Given the description of an element on the screen output the (x, y) to click on. 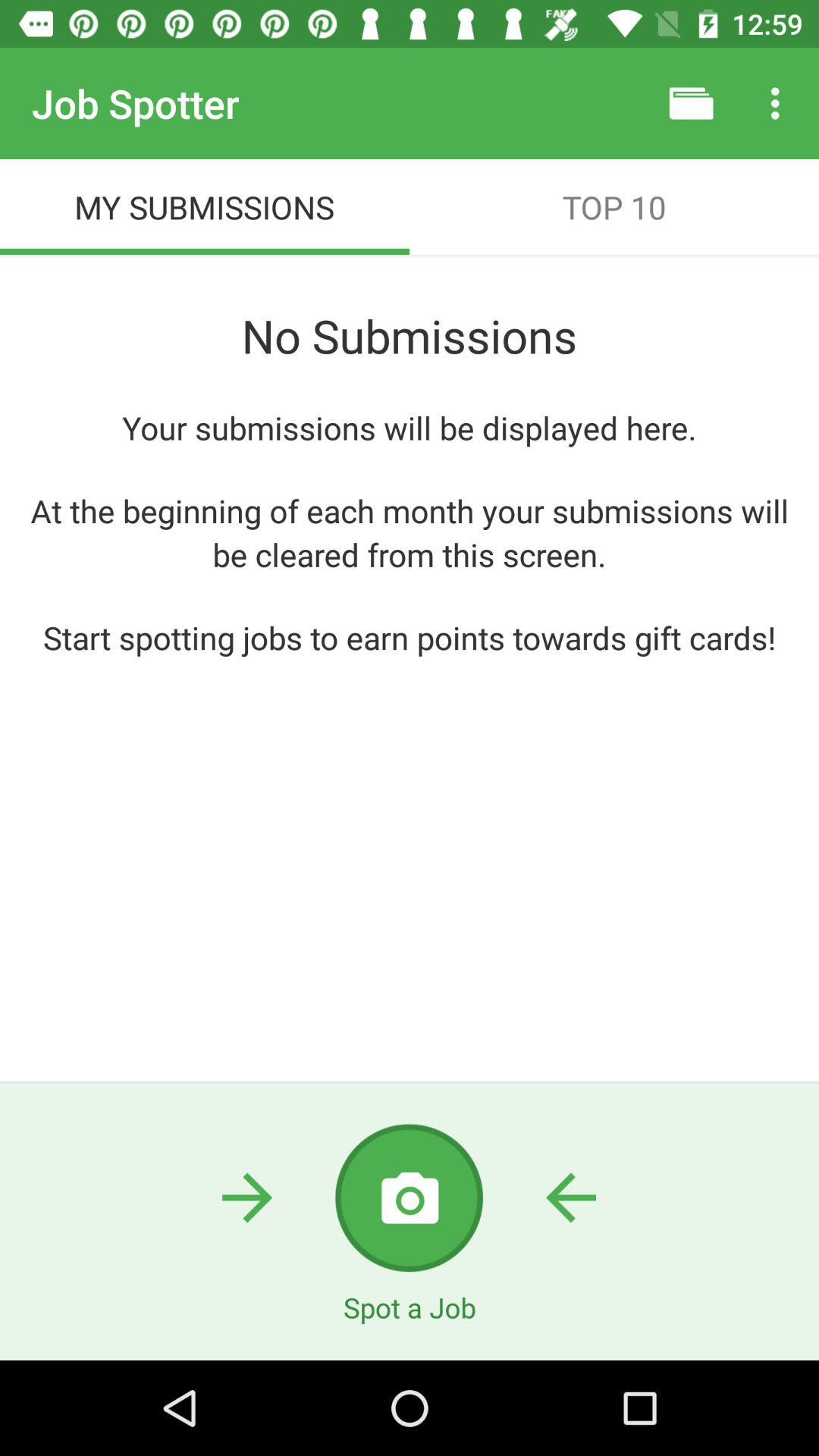
use camera (409, 1197)
